Given the description of an element on the screen output the (x, y) to click on. 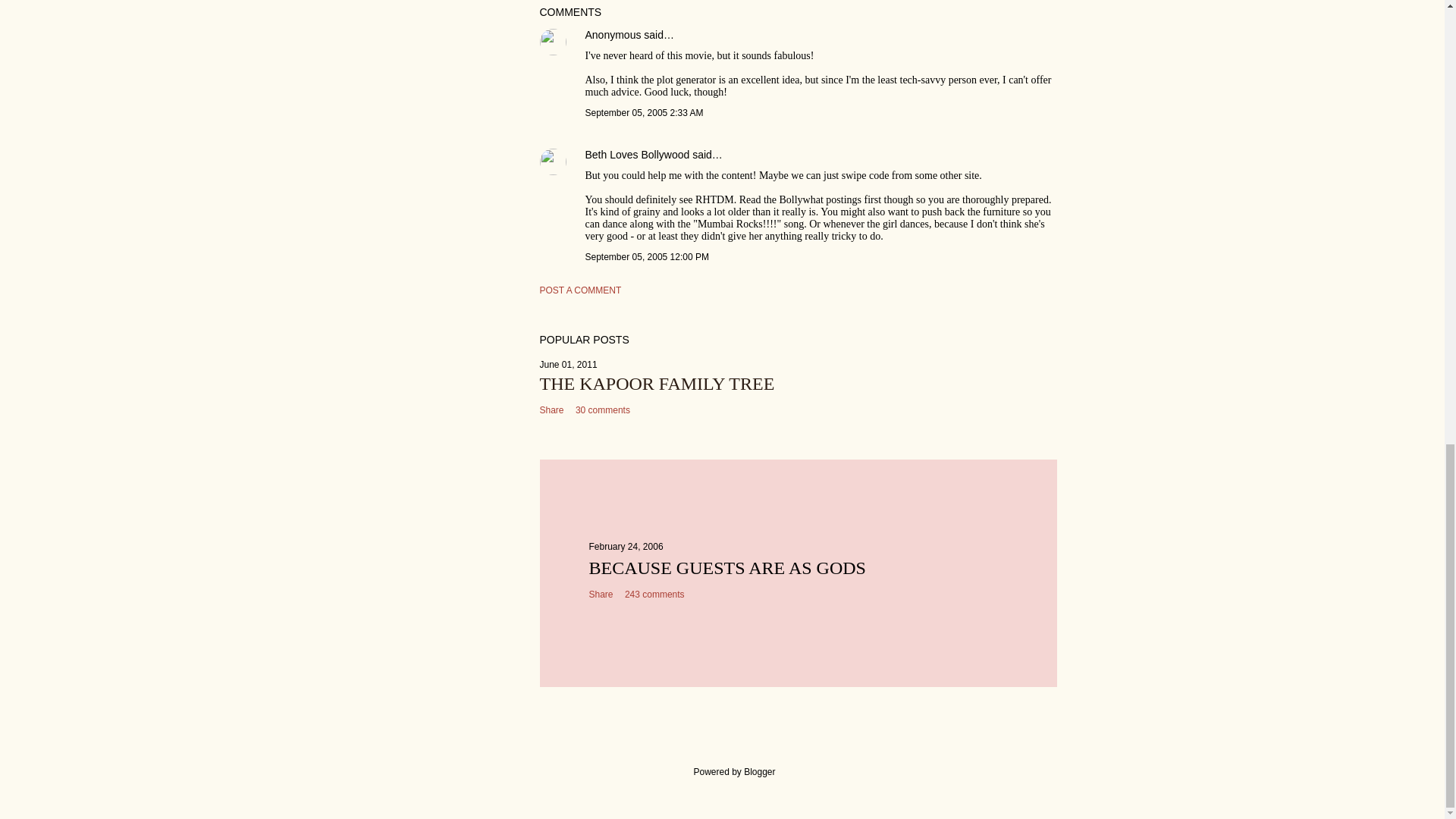
POST A COMMENT (580, 290)
September 05, 2005 12:00 PM (647, 256)
THE KAPOOR FAMILY TREE (657, 383)
Beth Loves Bollywood (637, 154)
February 24, 2006 (625, 546)
June 01, 2011 (568, 364)
comment permalink (644, 112)
Share (552, 409)
243 comments (654, 593)
30 comments (602, 409)
